Given the description of an element on the screen output the (x, y) to click on. 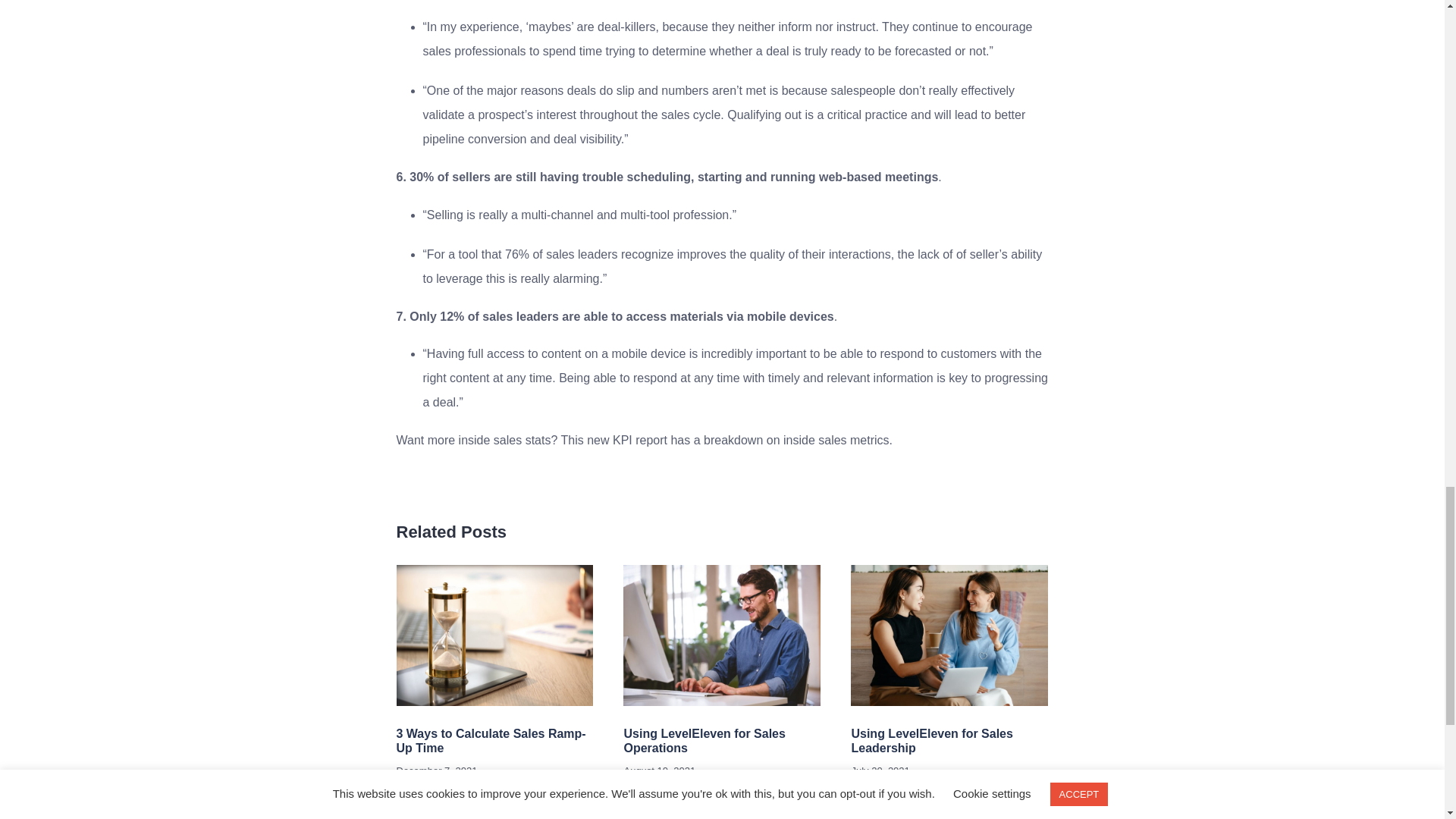
3-Ways-To-Calculate-Sales-Ramp-Up-Time-Feature (494, 635)
August 10, 2021 (659, 770)
3 Ways to Calculate Sales Ramp-Up Time (490, 740)
December 7, 2021 (436, 770)
Using LevelEleven for Sales Operations (703, 740)
Using LevelEleven for Sales Leadership (930, 740)
